Given the description of an element on the screen output the (x, y) to click on. 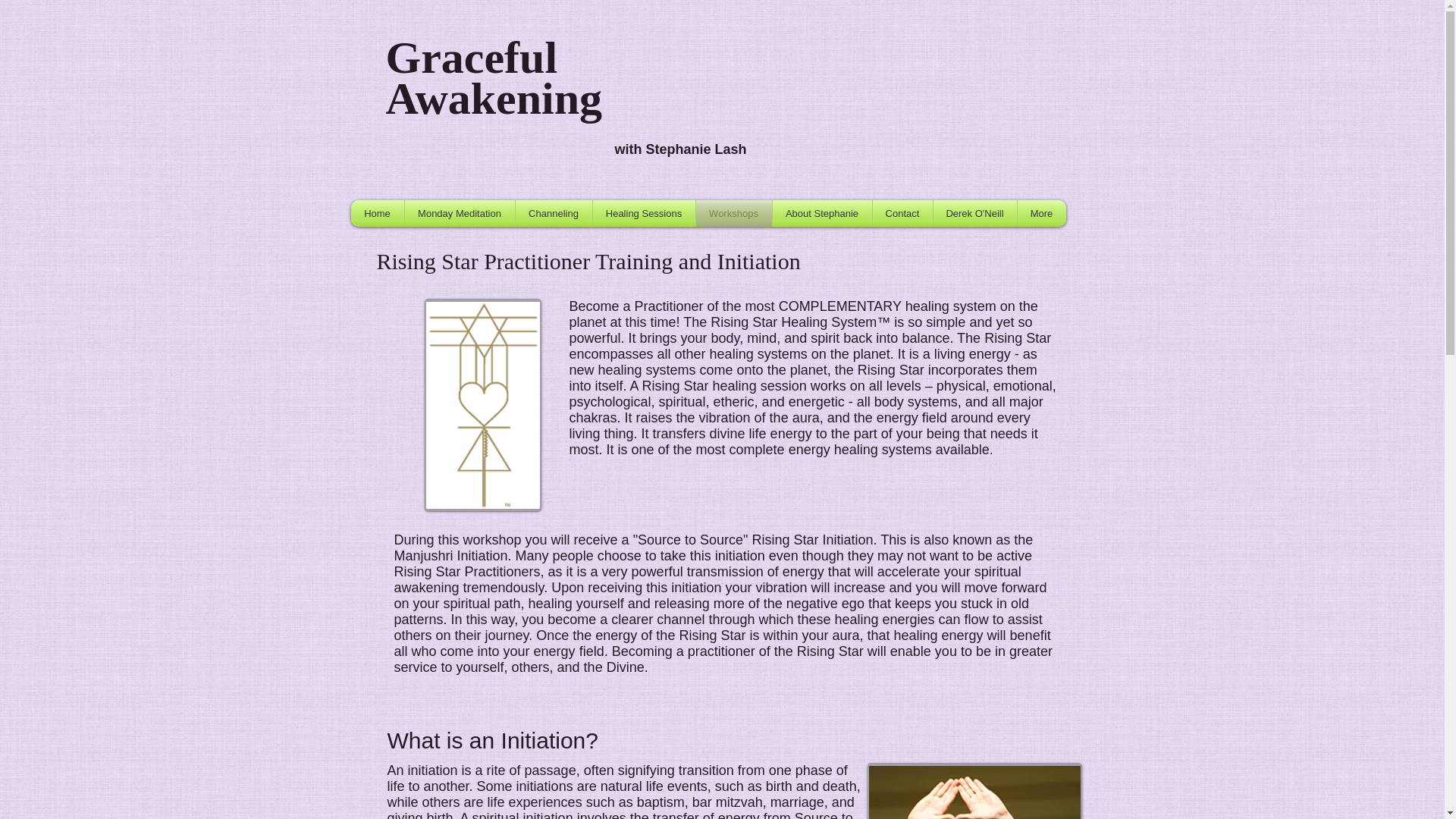
Home (376, 212)
Contact (901, 212)
Monday Meditation (459, 212)
Channeling (553, 212)
Workshops (733, 212)
Derek O'Neill (974, 212)
Healing Sessions (643, 212)
derek-rising-star - Copy.jpg (974, 790)
About Stephanie (820, 212)
